Given the description of an element on the screen output the (x, y) to click on. 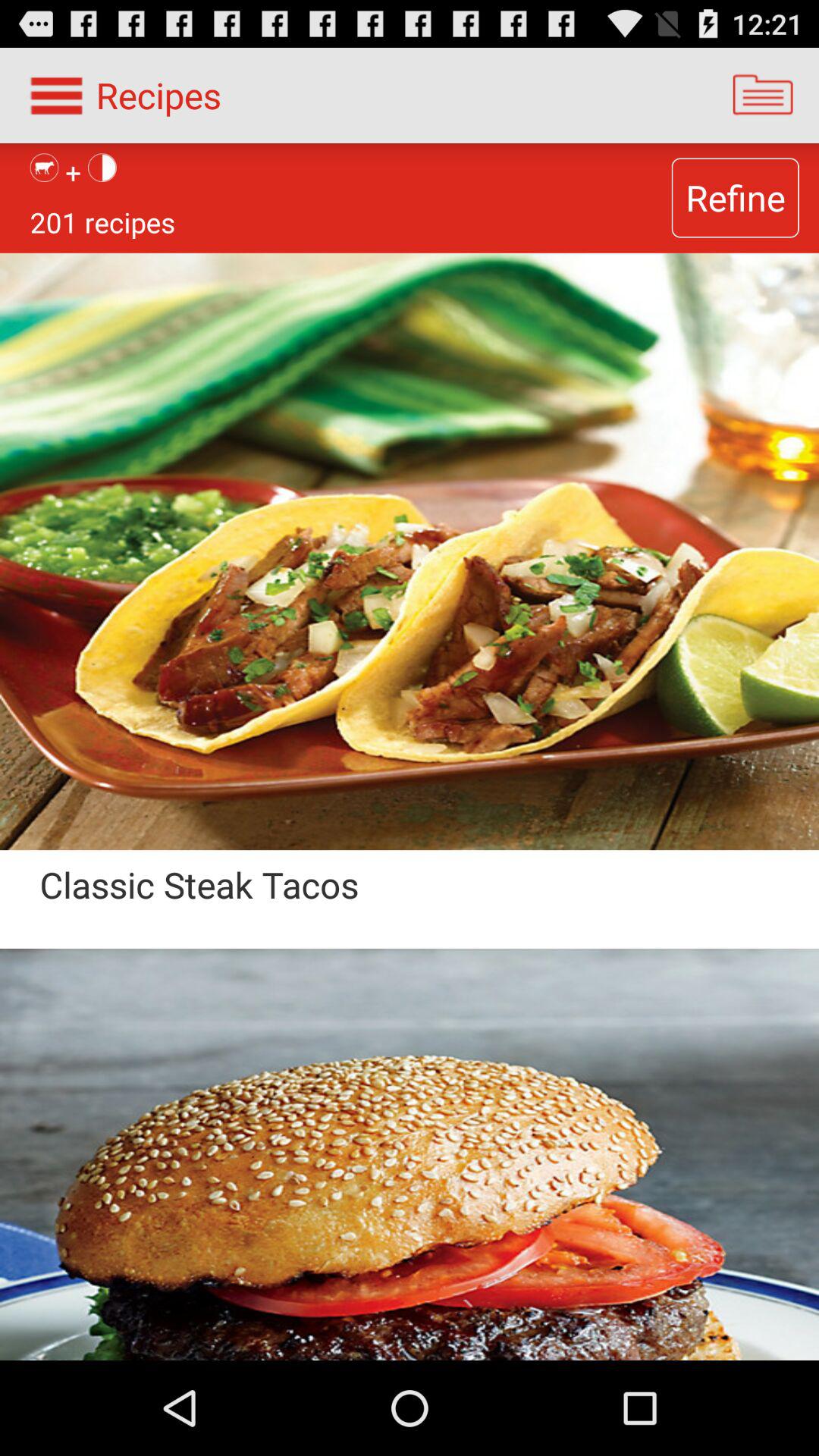
scroll to the classic steak tacos icon (332, 904)
